Given the description of an element on the screen output the (x, y) to click on. 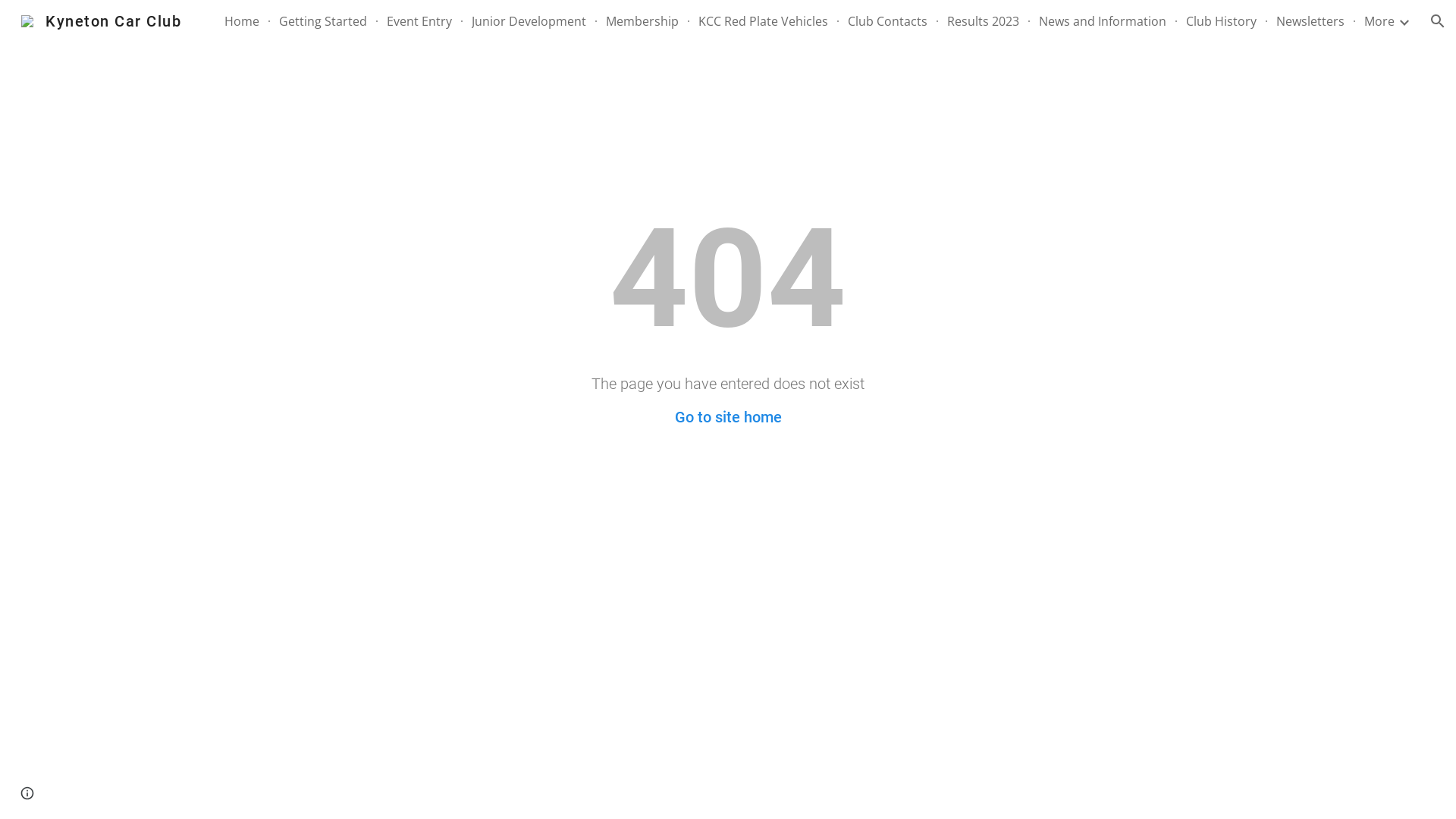
Junior Development Element type: text (528, 20)
Go to site home Element type: text (727, 416)
Results 2023 Element type: text (983, 20)
Home Element type: text (241, 20)
Club Contacts Element type: text (887, 20)
KCC Red Plate Vehicles Element type: text (763, 20)
Membership Element type: text (641, 20)
More Element type: text (1379, 20)
Newsletters Element type: text (1310, 20)
News and Information Element type: text (1102, 20)
Event Entry Element type: text (418, 20)
Expand/Collapse Element type: hover (1403, 20)
Kyneton Car Club Element type: text (101, 19)
Getting Started Element type: text (323, 20)
Club History Element type: text (1221, 20)
